Given the description of an element on the screen output the (x, y) to click on. 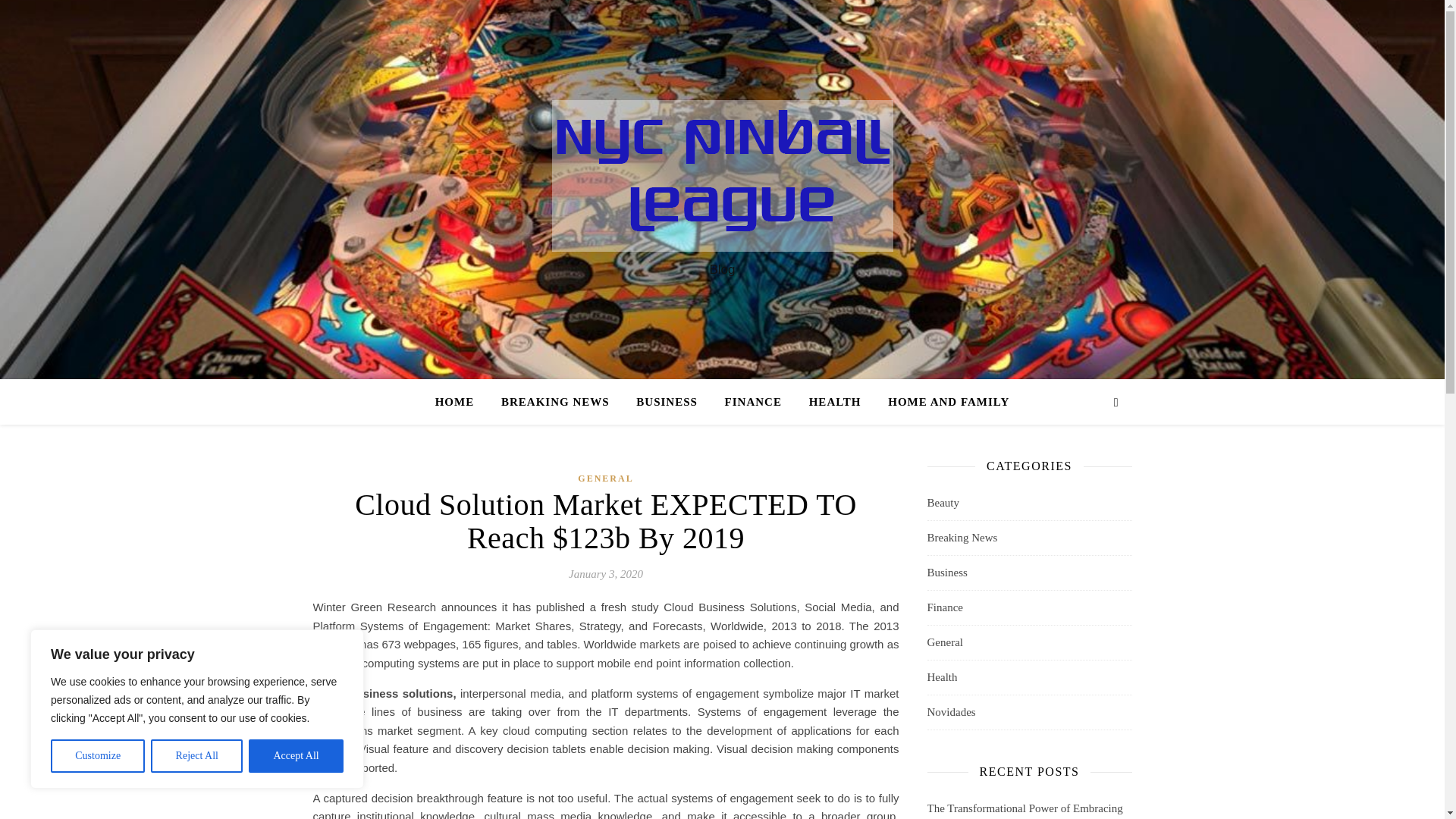
Health (941, 677)
NYC Pinball League (721, 175)
Breaking News (961, 537)
HOME (460, 402)
Finance (944, 607)
The Transformational Power of Embracing Change (1024, 810)
Beauty (942, 503)
Customize (97, 756)
Novidades (950, 712)
Business (946, 572)
HEALTH (834, 402)
Accept All (295, 756)
BUSINESS (667, 402)
General (944, 642)
Reject All (197, 756)
